Given the description of an element on the screen output the (x, y) to click on. 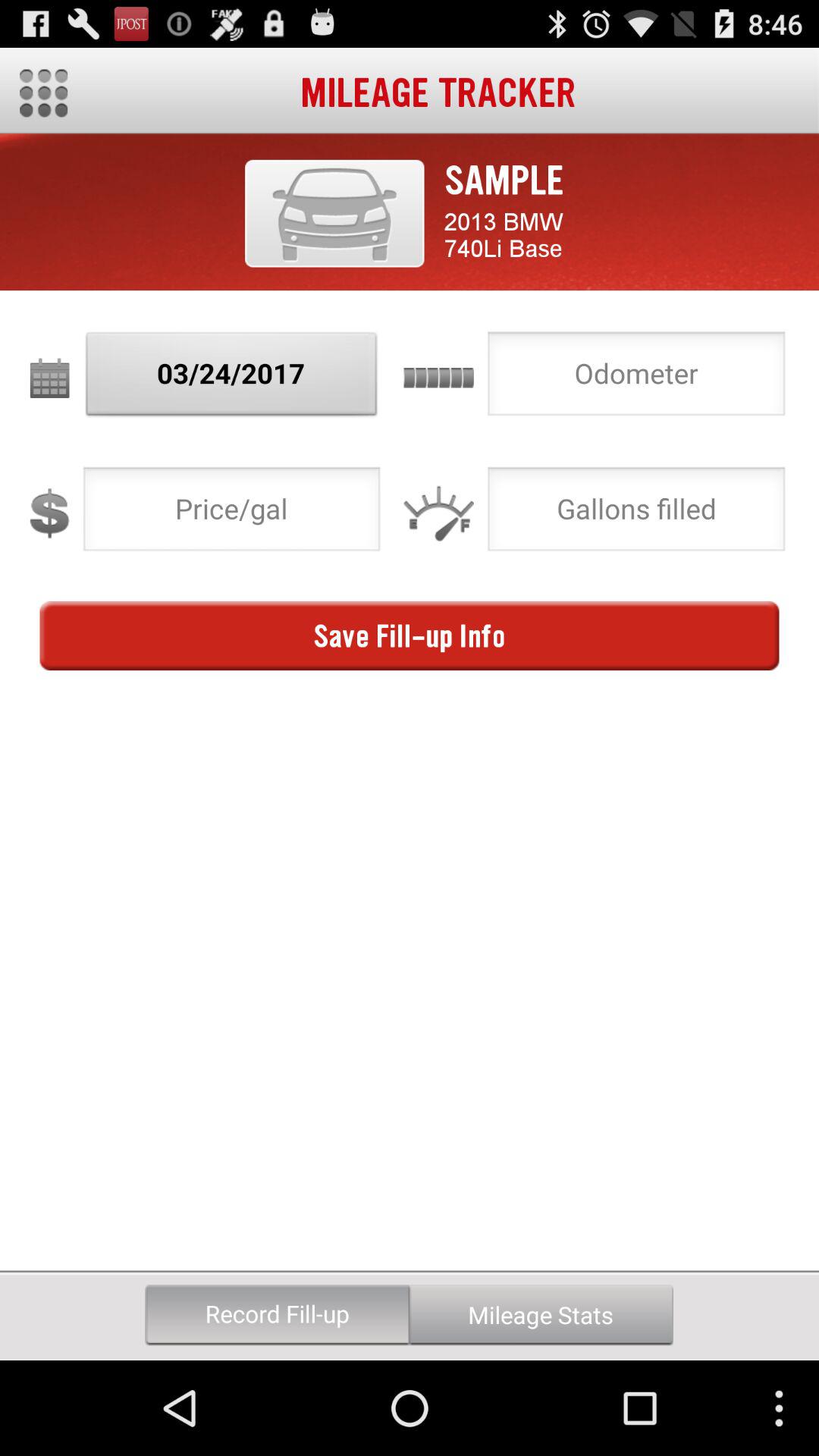
click button below save fill up icon (540, 1314)
